Given the description of an element on the screen output the (x, y) to click on. 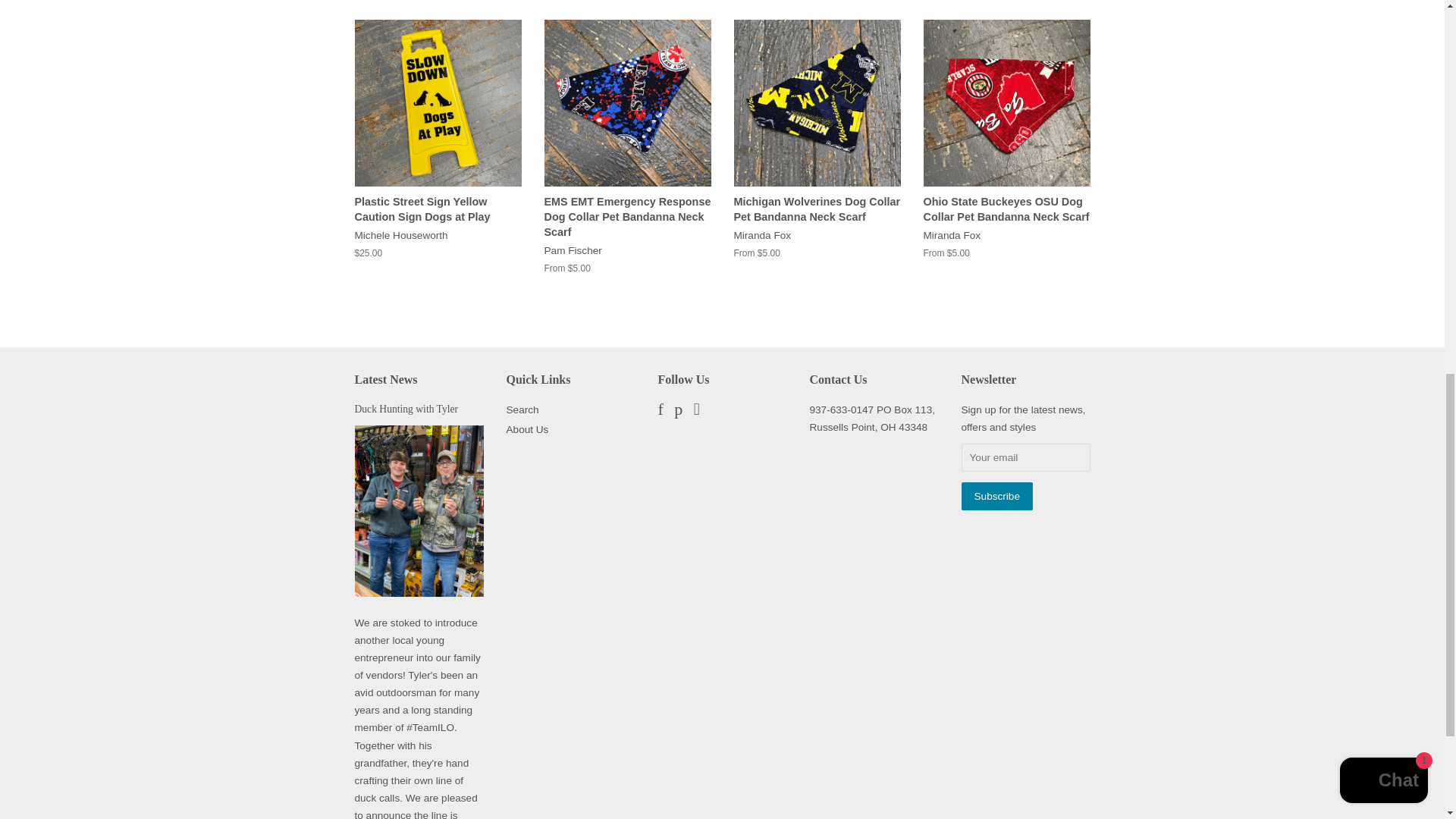
Latest News (386, 379)
TheDepot.LakeviewOhio on Instagram (697, 410)
TheDepot.LakeviewOhio on Pinterest (678, 410)
Subscribe (996, 496)
Duck Hunting with Tyler (406, 408)
TheDepot.LakeviewOhio on Facebook (660, 410)
